Given the description of an element on the screen output the (x, y) to click on. 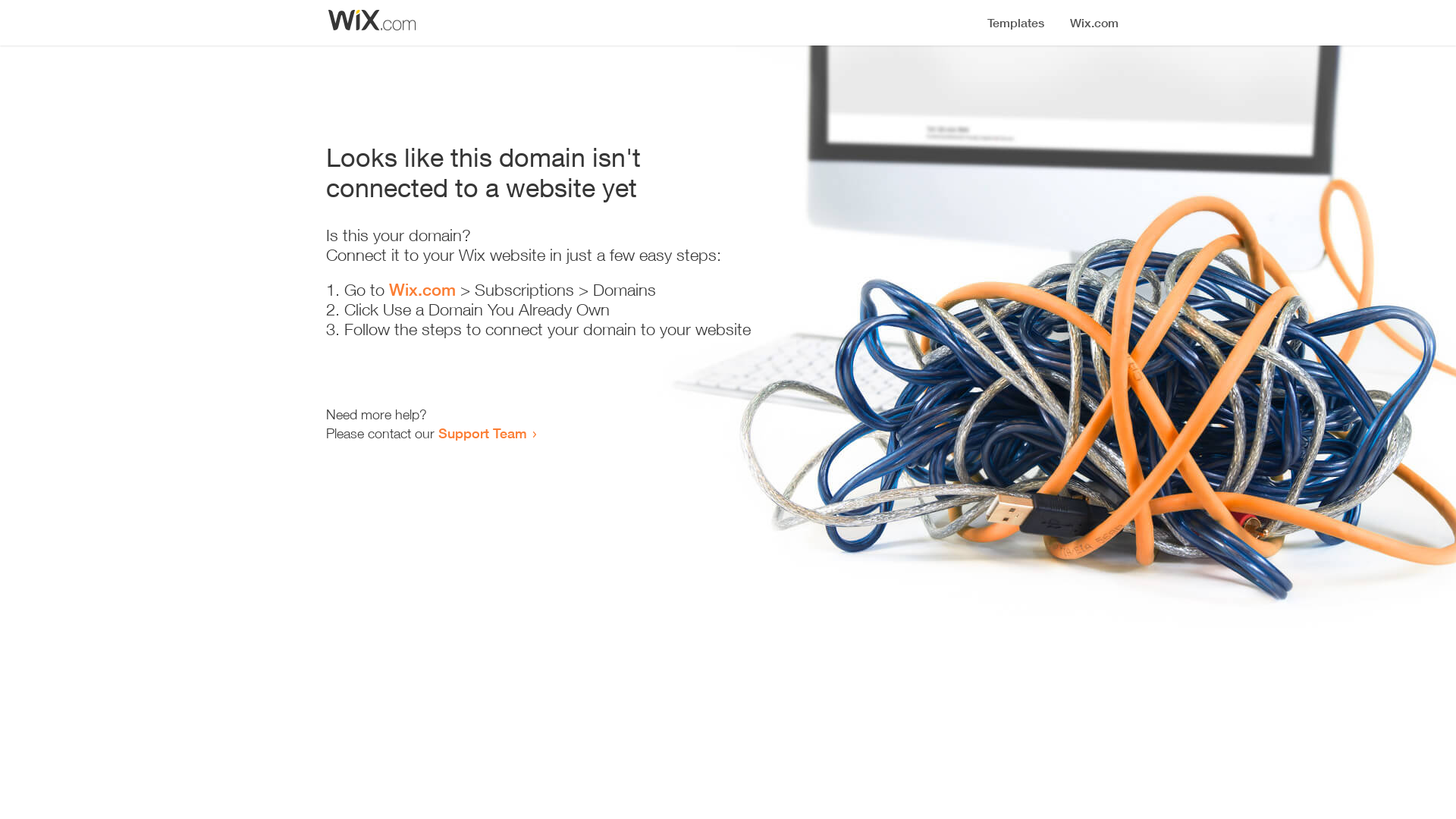
Support Team Element type: text (482, 432)
Wix.com Element type: text (422, 289)
